Given the description of an element on the screen output the (x, y) to click on. 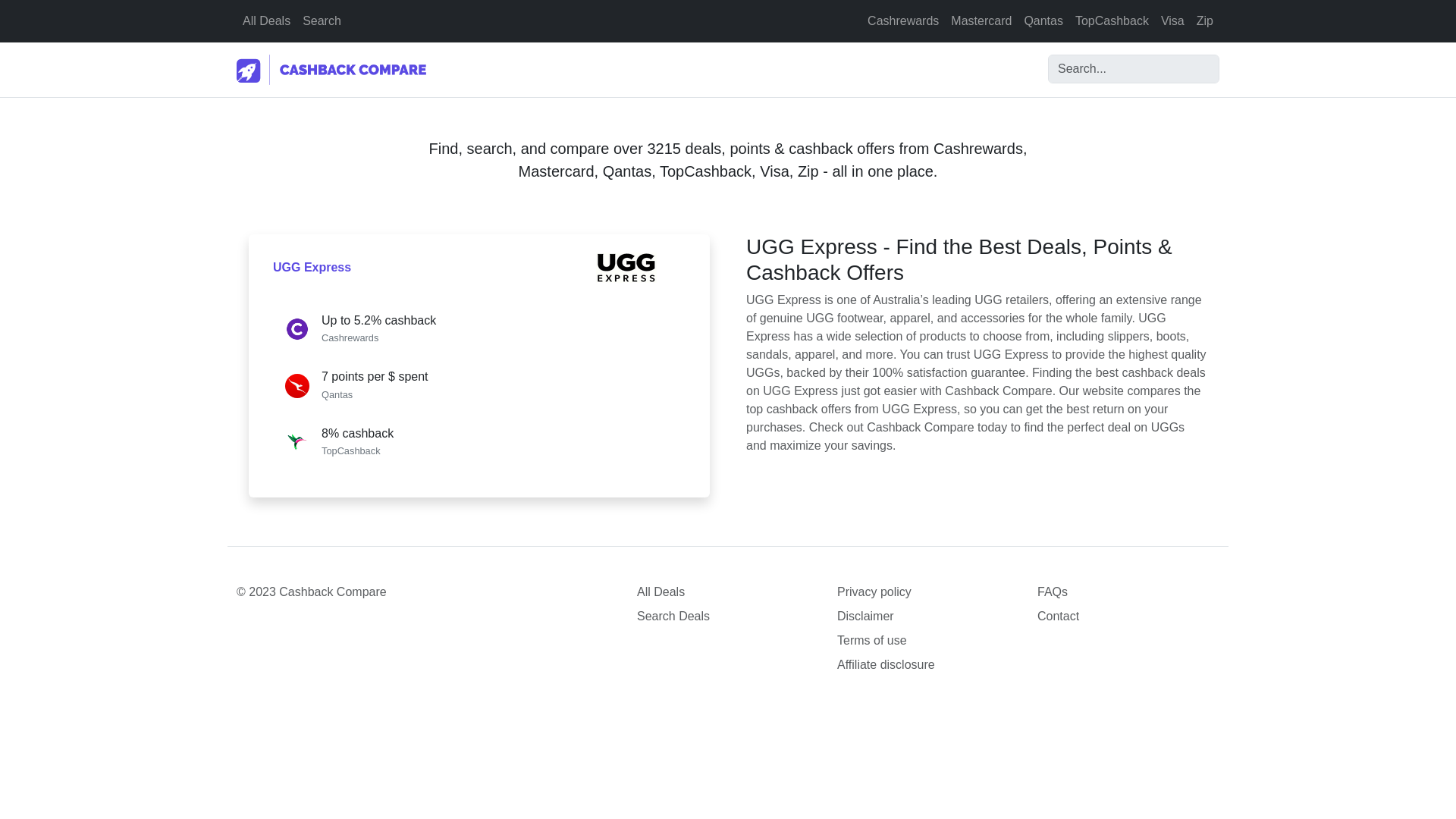
Cashrewards (902, 20)
Search Deals (727, 616)
TopCashback (1111, 20)
Terms of use (928, 640)
Privacy policy (928, 592)
Qantas (1042, 20)
UGG Express (311, 267)
Contact (1128, 616)
Disclaimer (928, 616)
Mastercard (980, 20)
All Deals (727, 592)
Visa (1172, 20)
Search (322, 20)
Zip (1205, 20)
All Deals (266, 20)
